Given the description of an element on the screen output the (x, y) to click on. 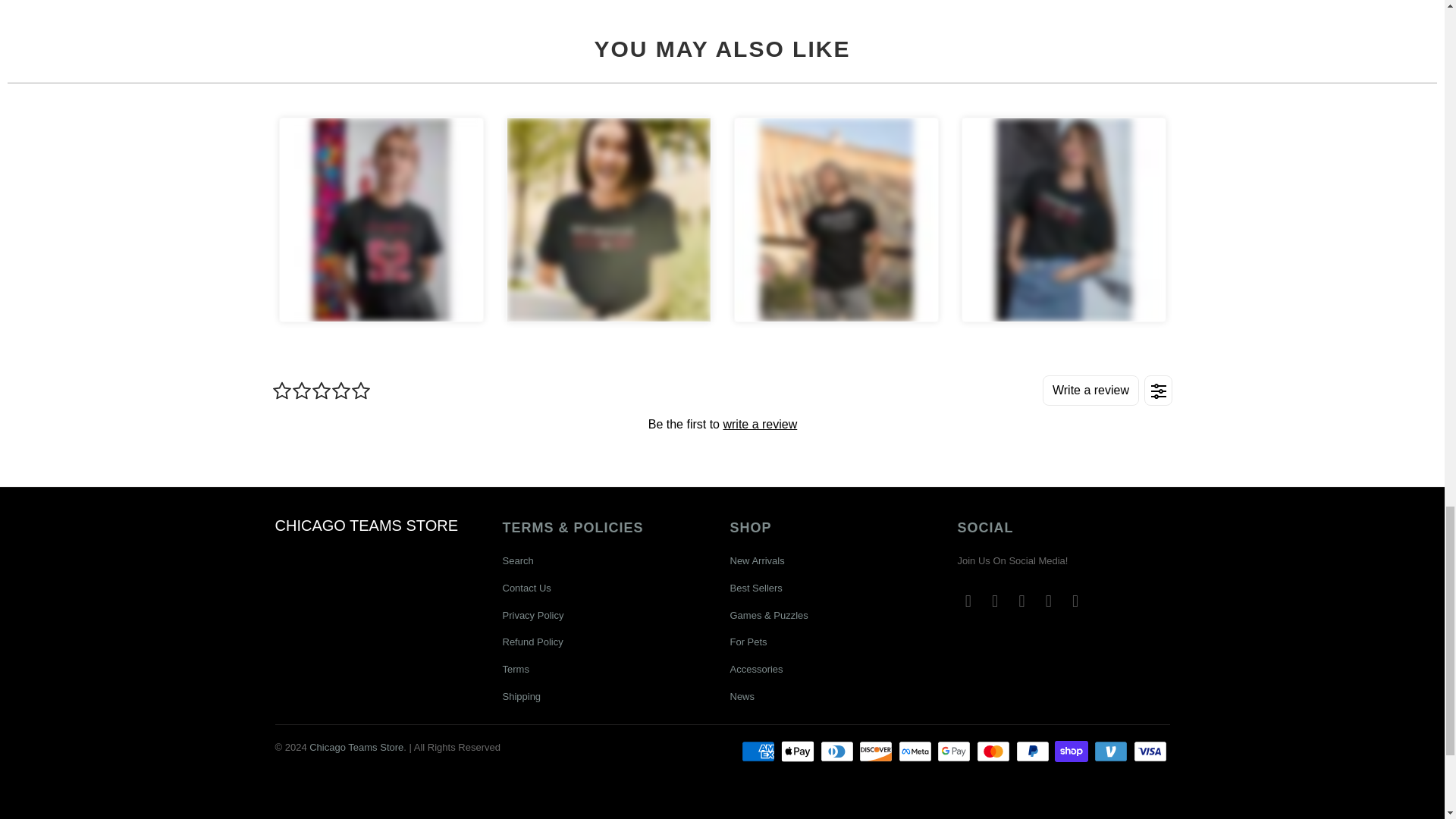
Mastercard (994, 751)
Shop Pay (1072, 751)
Diners Club (839, 751)
Google Pay (955, 751)
Apple Pay (798, 751)
PayPal (1034, 751)
American Express (759, 751)
Venmo (1112, 751)
Visa (1150, 751)
Meta Pay (916, 751)
Product reviews widget (721, 423)
Discover (877, 751)
